Given the description of an element on the screen output the (x, y) to click on. 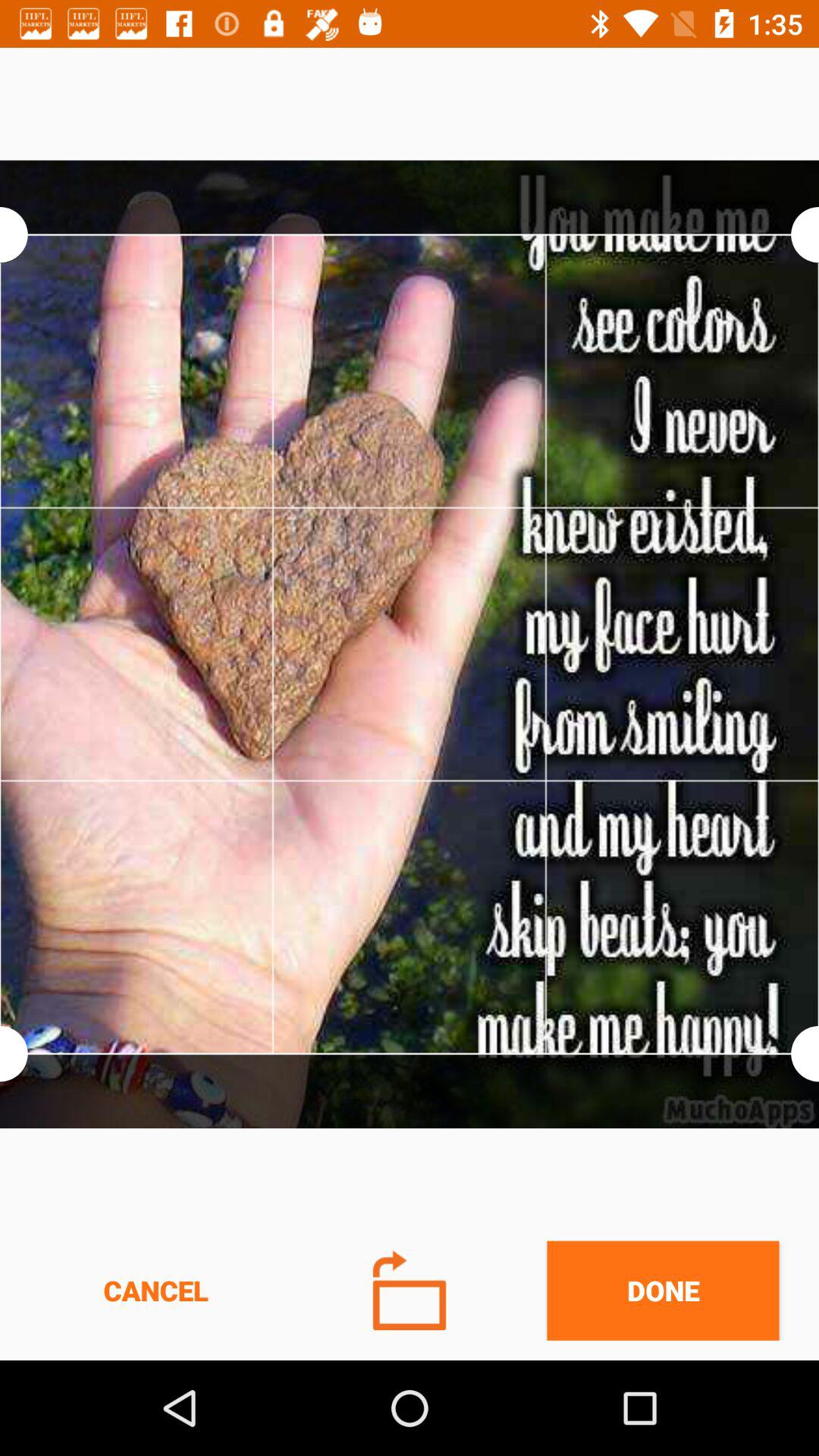
launch icon at the bottom right corner (663, 1290)
